Given the description of an element on the screen output the (x, y) to click on. 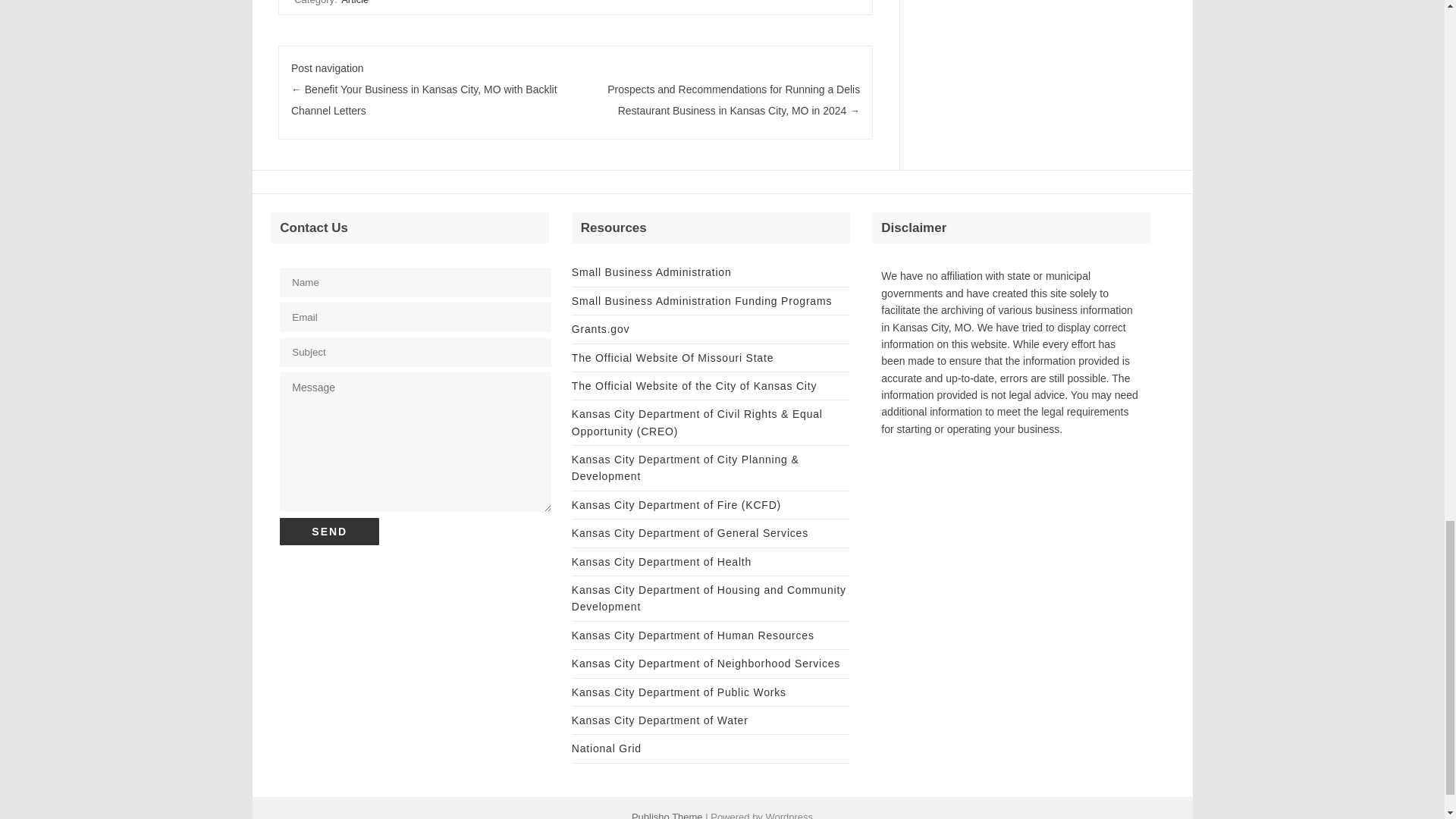
Send (328, 531)
Send (328, 531)
The Official Website Of Missouri State (672, 357)
Kansas City Department of Neighborhood Services (706, 663)
Kansas City Department of Public Works (679, 692)
Kansas City Department of Housing and Community Development (708, 597)
Grants.gov (600, 328)
Small Business Administration Funding Programs (701, 300)
Kansas City Department of General Services (690, 532)
Kansas City Department of Human Resources (692, 635)
The Official Website of the City of Kansas City (694, 386)
Small Business Administration (652, 272)
National Grid (607, 748)
Article (354, 3)
Kansas City Department of Health (661, 562)
